Given the description of an element on the screen output the (x, y) to click on. 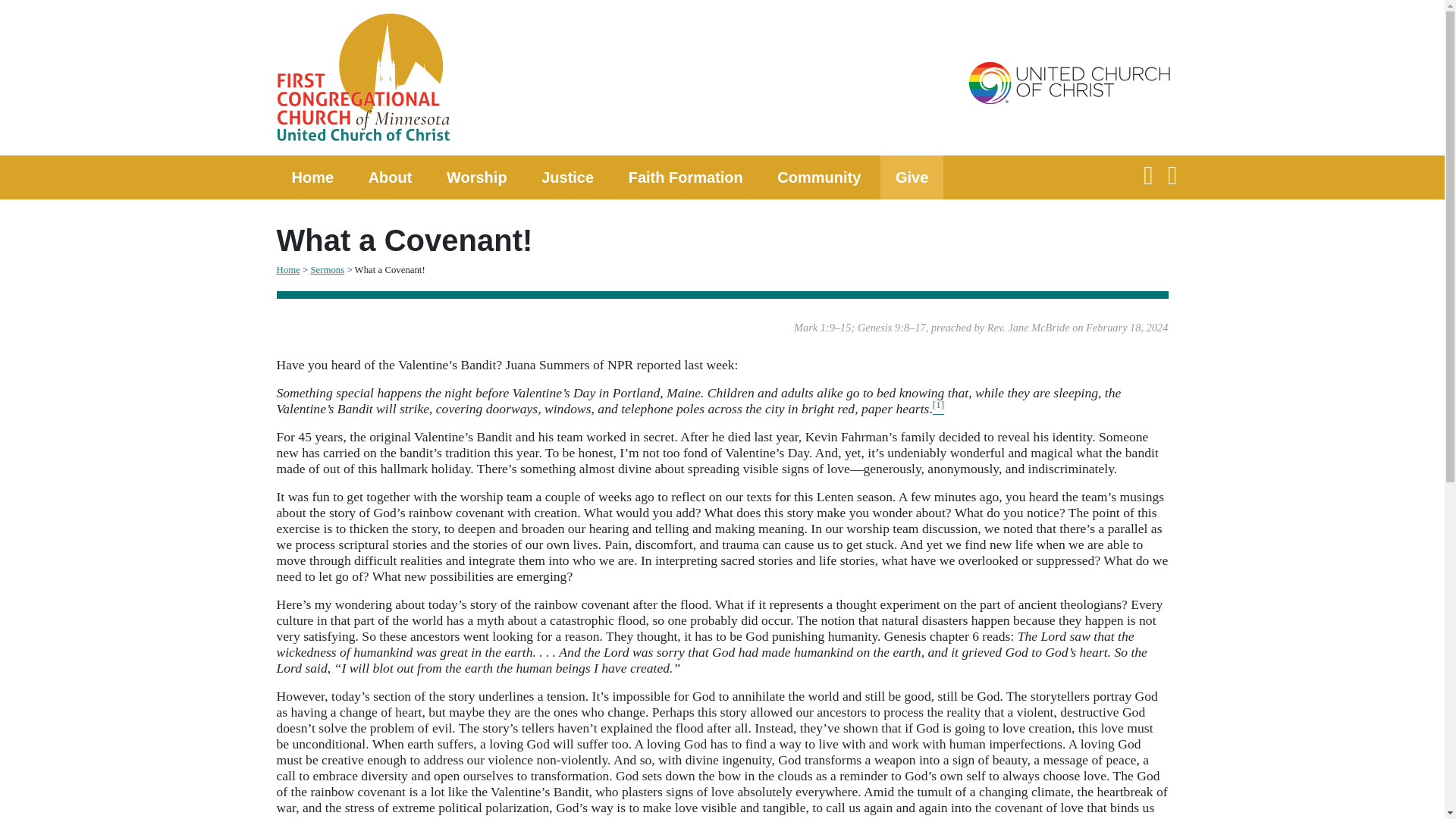
Go to First Congregational Church of Minnesota. (287, 269)
Sermons (326, 269)
First Congregational Church of Minnesota (494, 79)
Justice (566, 177)
Worship (476, 177)
Sermons (326, 269)
Faith Formation (685, 177)
Give (911, 177)
About (390, 177)
Community (818, 177)
Home (287, 269)
Home (312, 177)
First Congregational Church of Minnesota (494, 79)
